Given the description of an element on the screen output the (x, y) to click on. 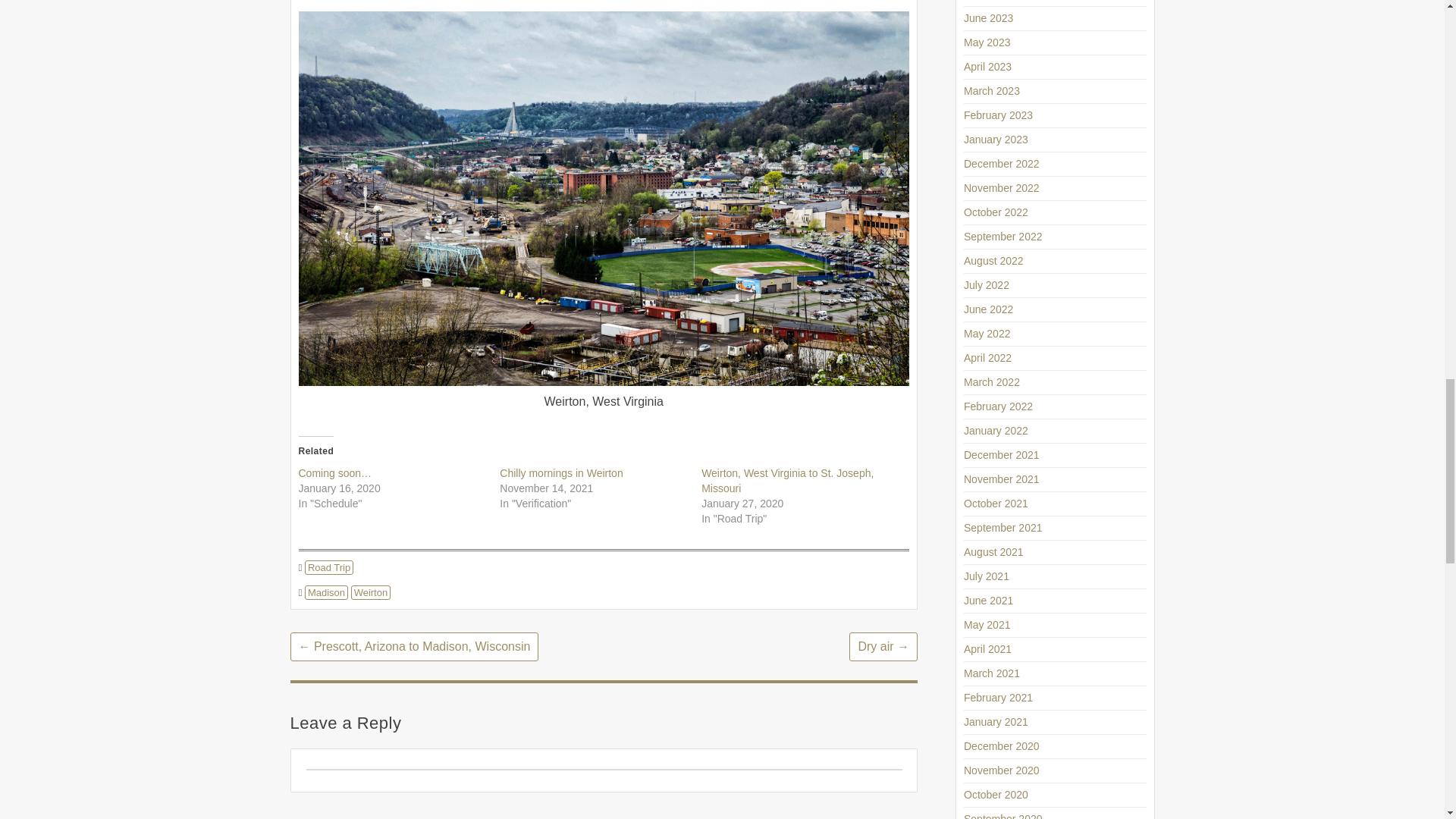
Madison (325, 592)
Chilly mornings in Weirton (561, 472)
Road Trip (328, 567)
Chilly mornings in Weirton (561, 472)
Weirton, West Virginia to St. Joseph, Missouri (787, 480)
Weirton (370, 592)
Weirton, West Virginia to St. Joseph, Missouri (787, 480)
